Given the description of an element on the screen output the (x, y) to click on. 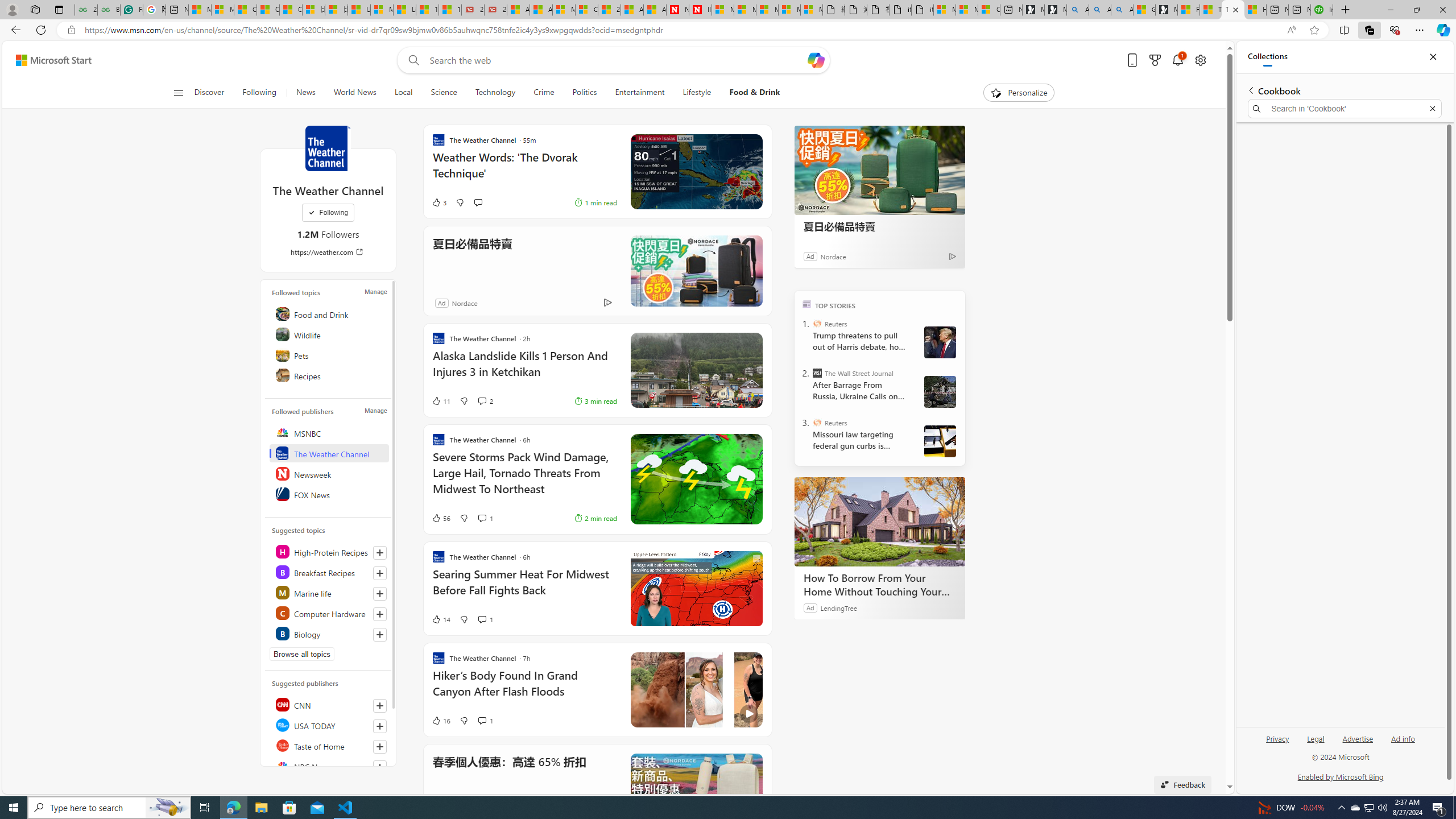
Follow this source (379, 766)
Pets (328, 354)
Follow this topic (379, 634)
14 Like (440, 619)
